Given the description of an element on the screen output the (x, y) to click on. 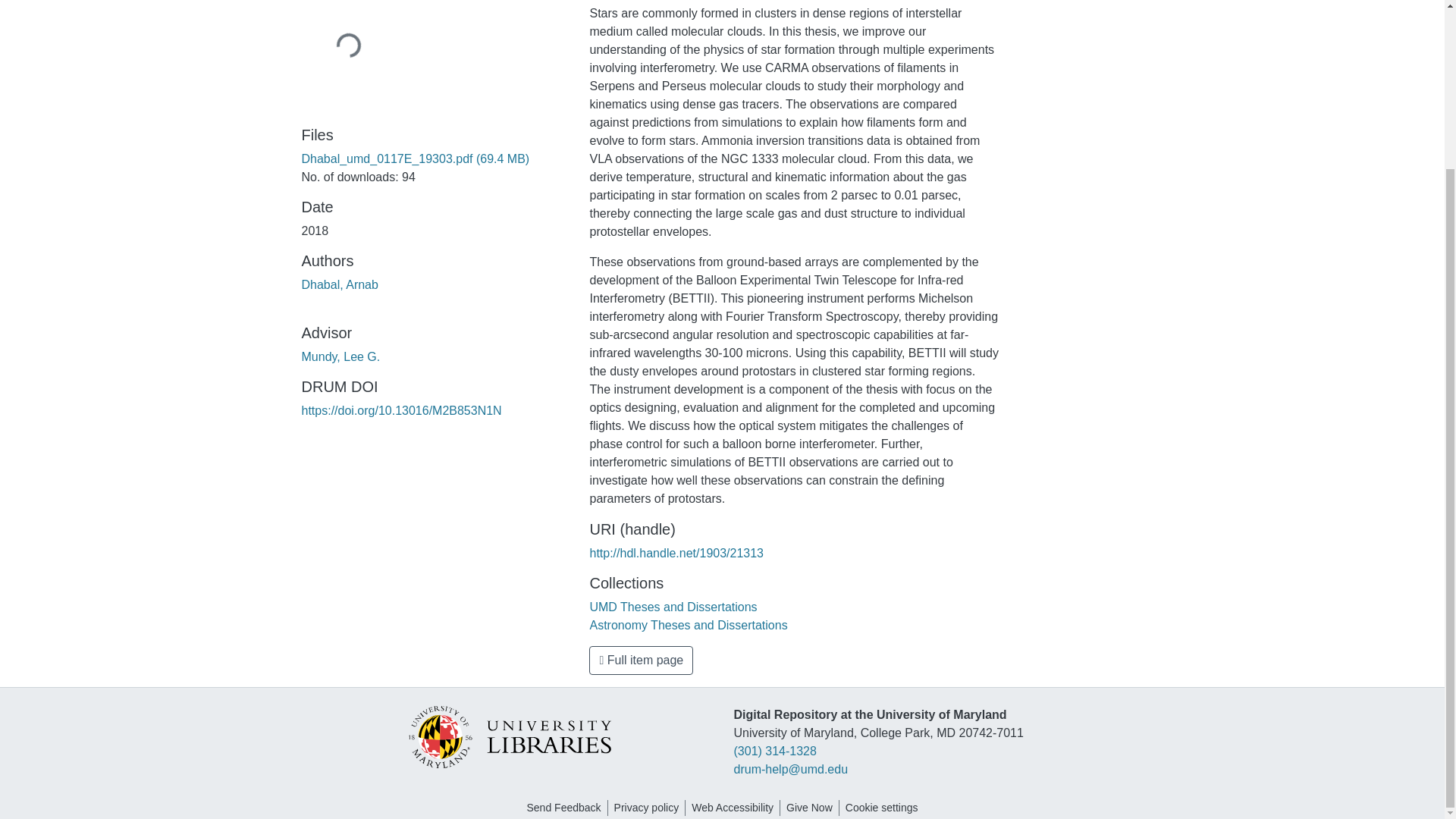
Dhabal, Arnab (339, 284)
Mundy, Lee G. (340, 356)
Web Accessibility (731, 807)
Send Feedback (563, 807)
Give Now (809, 807)
Cookie settings (882, 807)
UMD Theses and Dissertations (673, 606)
Astronomy Theses and Dissertations (688, 625)
Privacy policy (646, 807)
Libraries Home Page (508, 735)
Full item page (641, 660)
